Given the description of an element on the screen output the (x, y) to click on. 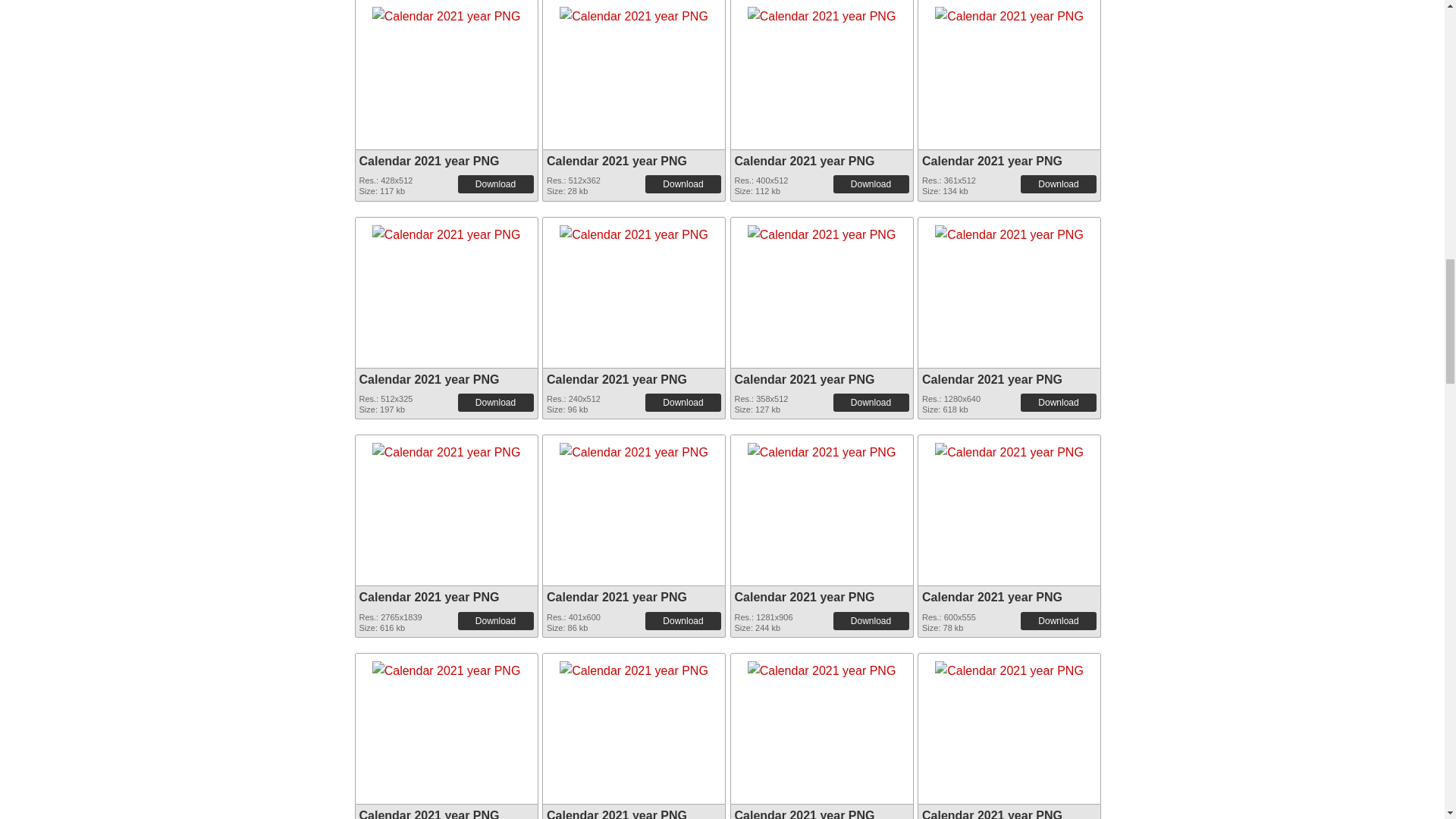
Calendar 2021 year PNG (446, 13)
Calendar 2021 year PNG (633, 11)
Calendar 2021 year PNG (446, 11)
